Given the description of an element on the screen output the (x, y) to click on. 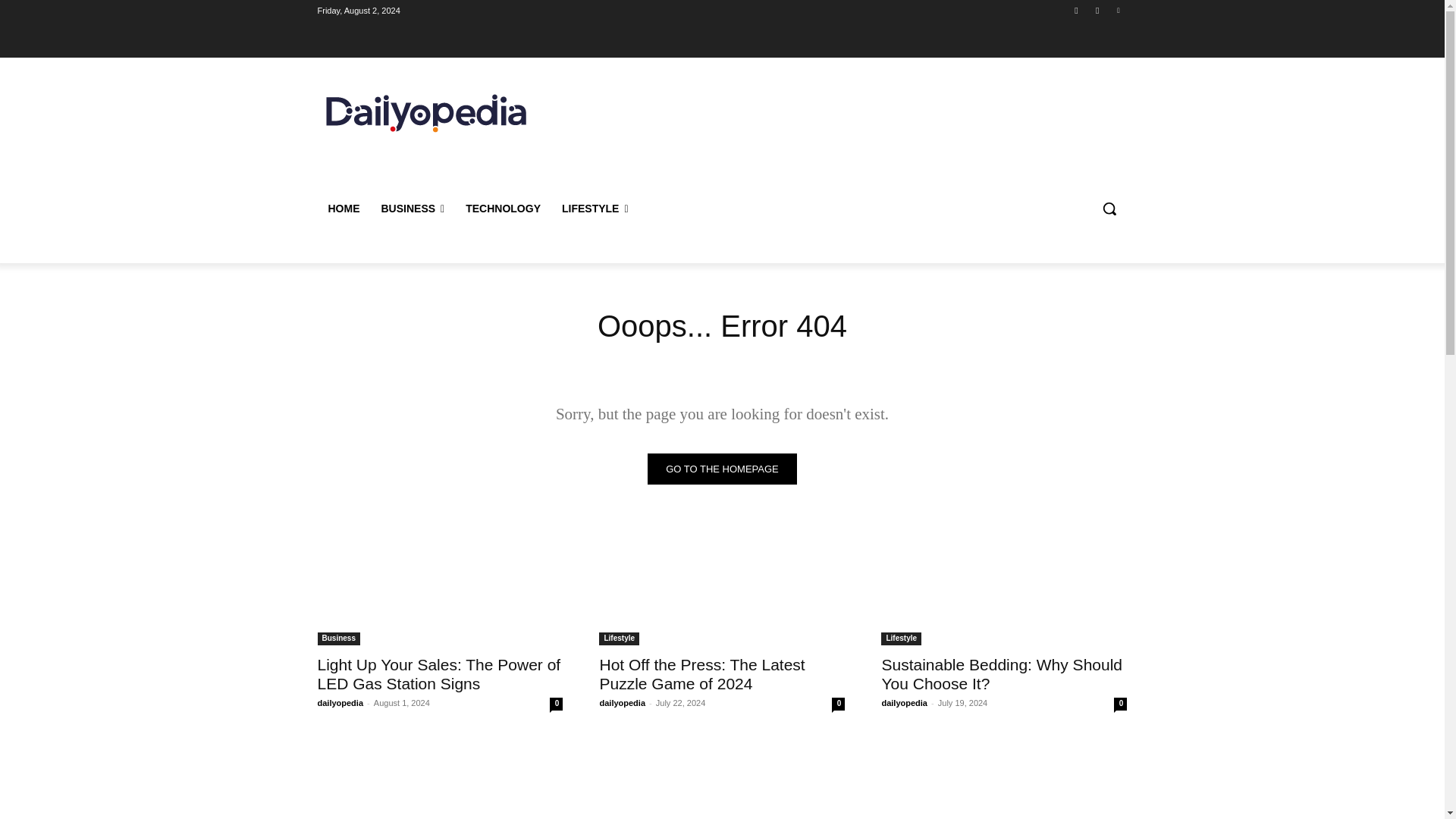
Hot Off the Press: The Latest Puzzle Game of 2024 (701, 674)
Green Building Practices Gaining Momentum in Oman (439, 778)
0 (837, 703)
LIFESTYLE (595, 208)
0 (556, 703)
HOME (343, 208)
dailyopedia (621, 702)
Sustainable Bedding: Why Should You Choose It? (1001, 674)
TECHNOLOGY (502, 208)
BUSINESS (411, 208)
dailyopedia (339, 702)
Light Up Your Sales: The Power of LED Gas Station Signs (439, 583)
Hot Off the Press: The Latest Puzzle Game of 2024 (721, 583)
Light Up Your Sales: The Power of LED Gas Station Signs (438, 674)
Hot Off the Press: The Latest Puzzle Game of 2024 (701, 674)
